Given the description of an element on the screen output the (x, y) to click on. 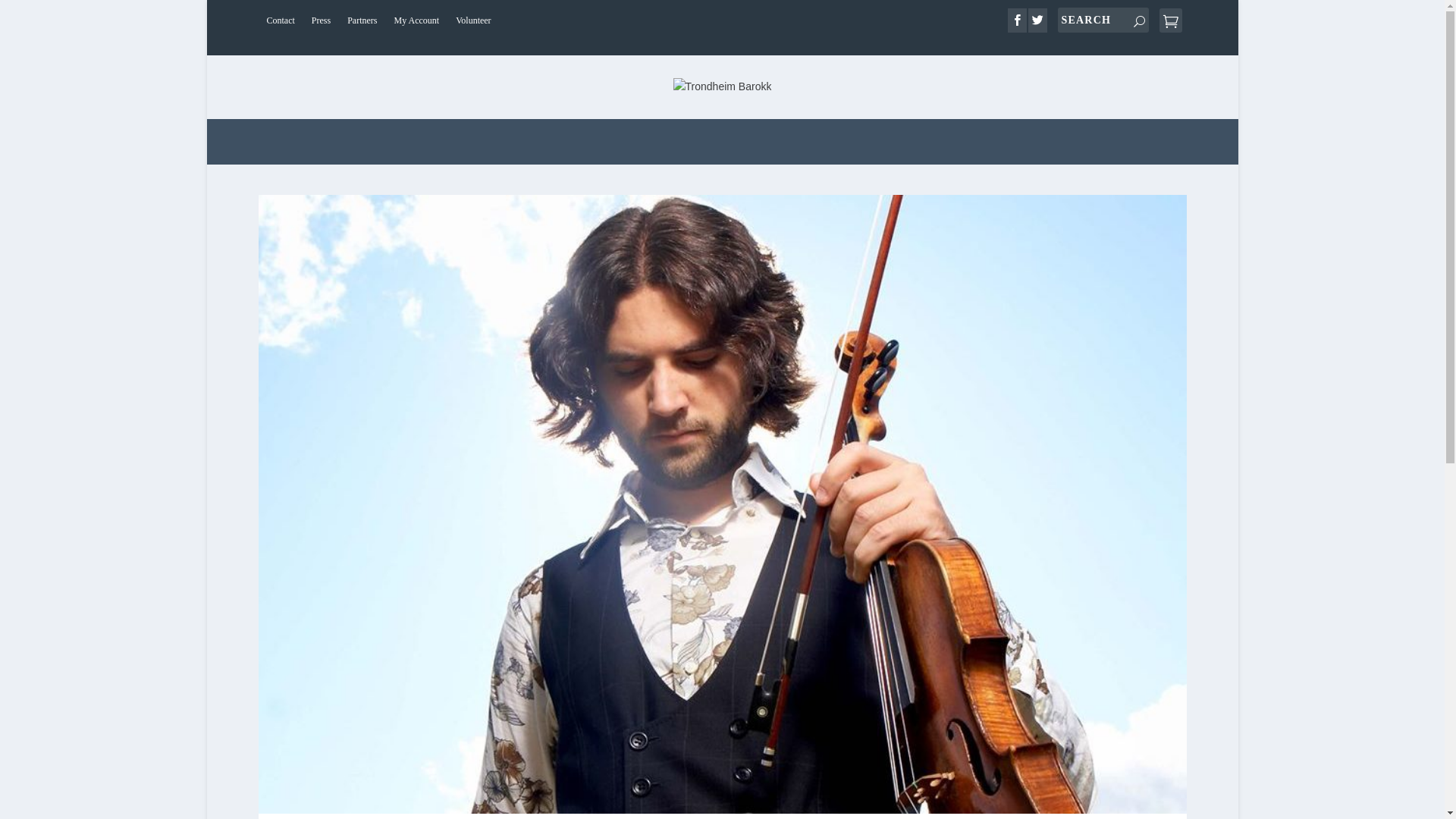
My Account (415, 20)
Contact (279, 20)
Partners (362, 20)
Volunteer (472, 20)
